Given the description of an element on the screen output the (x, y) to click on. 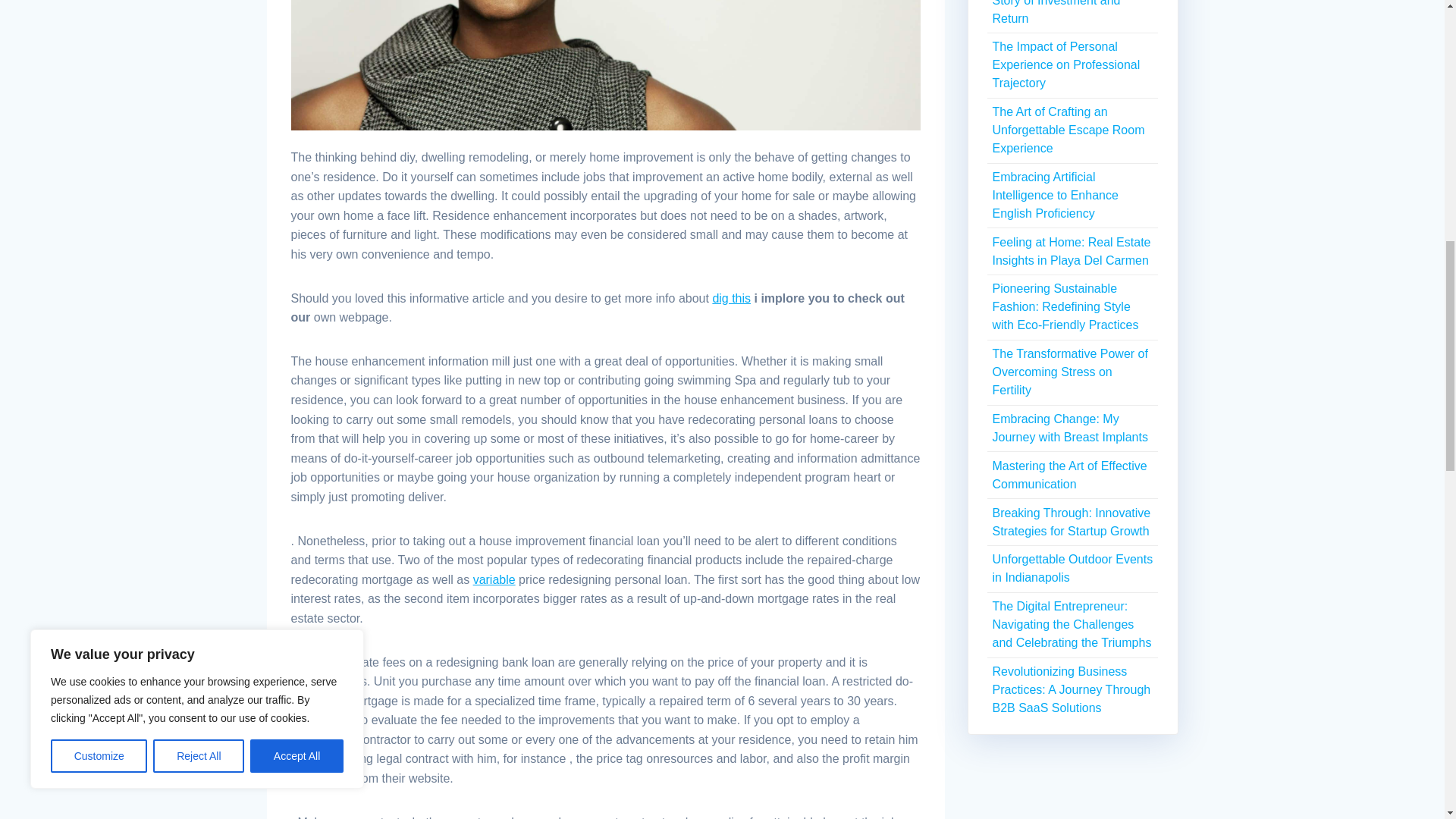
dig this (731, 297)
Feeling at Home: Real Estate Insights in Playa Del Carmen (1070, 250)
variable (494, 579)
The Art of Crafting an Unforgettable Escape Room Experience (1067, 129)
The Impact of Personal Experience on Professional Trajectory (1065, 64)
The Growth of Wineries: A Story of Investment and Return (1061, 12)
